Given the description of an element on the screen output the (x, y) to click on. 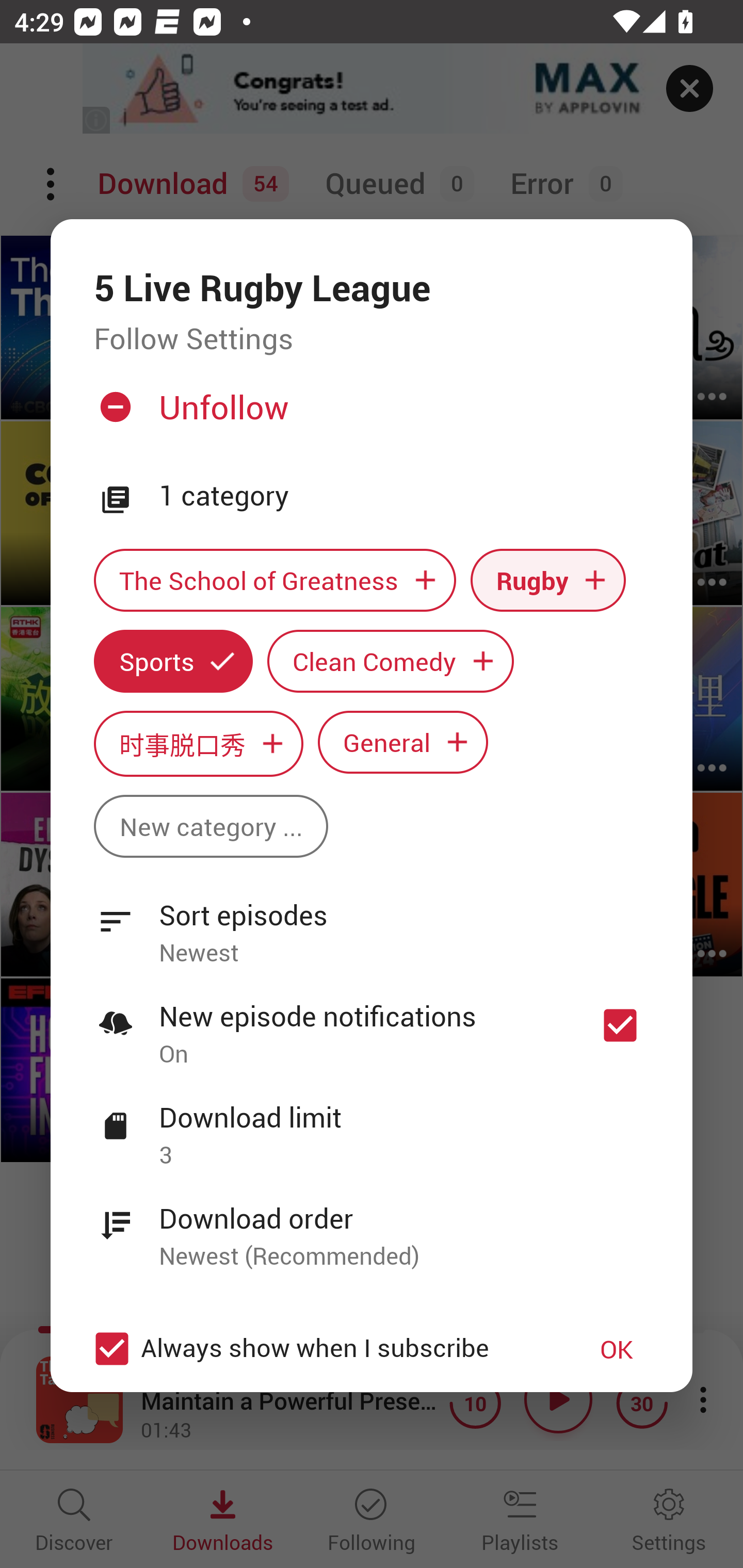
Unfollow (369, 415)
1 category (404, 495)
The School of Greatness (274, 579)
Rugby (547, 579)
Sports (172, 661)
Clean Comedy (390, 661)
时事脱口秀 (198, 743)
General (403, 741)
New category ... (210, 825)
Sort episodes Newest (371, 922)
New episode notifications (620, 1025)
Download limit 3 (371, 1125)
Download order Newest (Recommended) (371, 1226)
OK (616, 1349)
Always show when I subscribe (320, 1349)
